Given the description of an element on the screen output the (x, y) to click on. 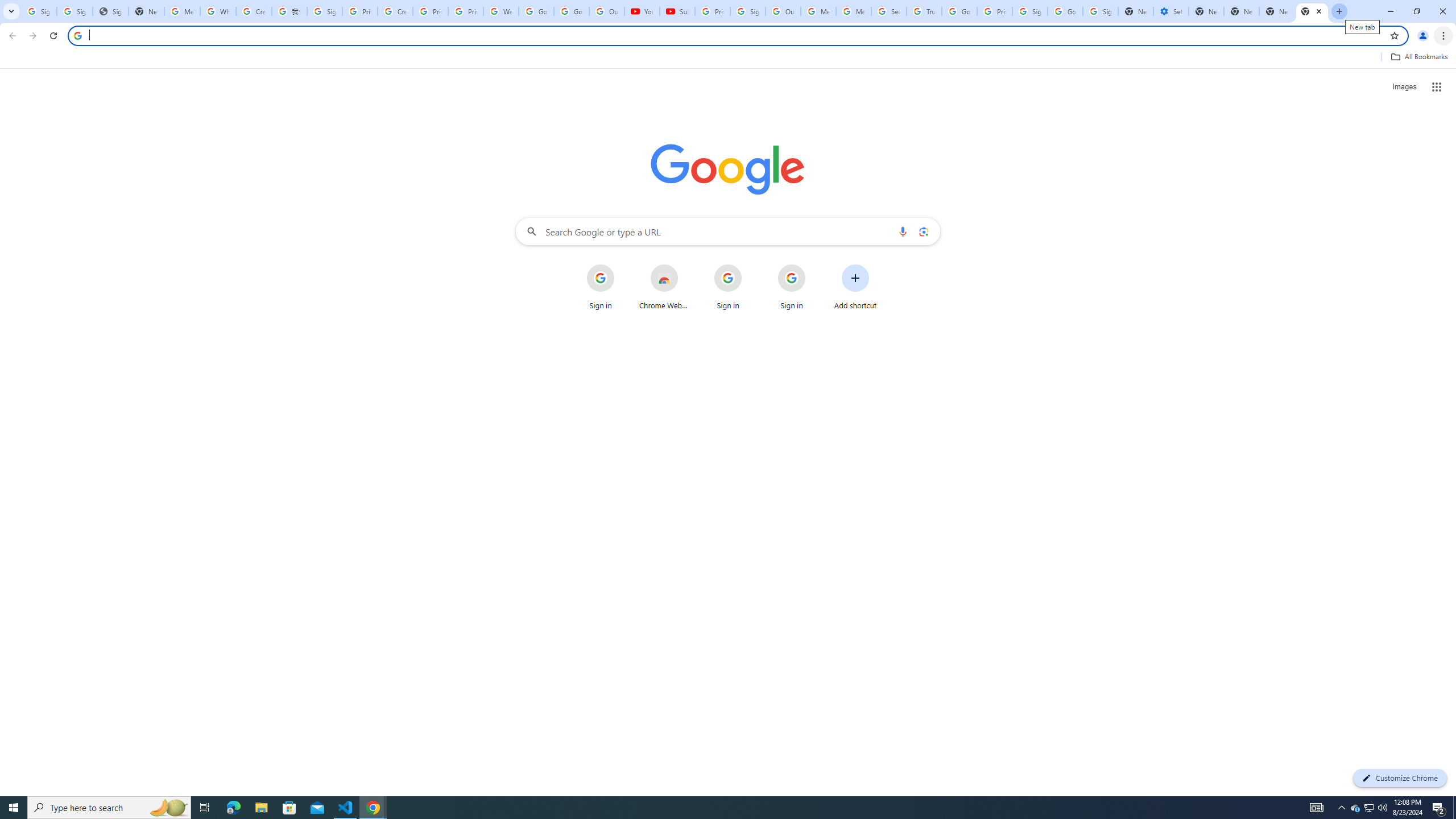
Create your Google Account (394, 11)
Sign in - Google Accounts (324, 11)
Sign in - Google Accounts (74, 11)
More actions for Sign in shortcut (814, 265)
Welcome to My Activity (501, 11)
New Tab (1276, 11)
Customize Chrome (1399, 778)
Add shortcut (855, 287)
Trusted Information and Content - Google Safety Center (923, 11)
Chrome Web Store (663, 287)
